Given the description of an element on the screen output the (x, y) to click on. 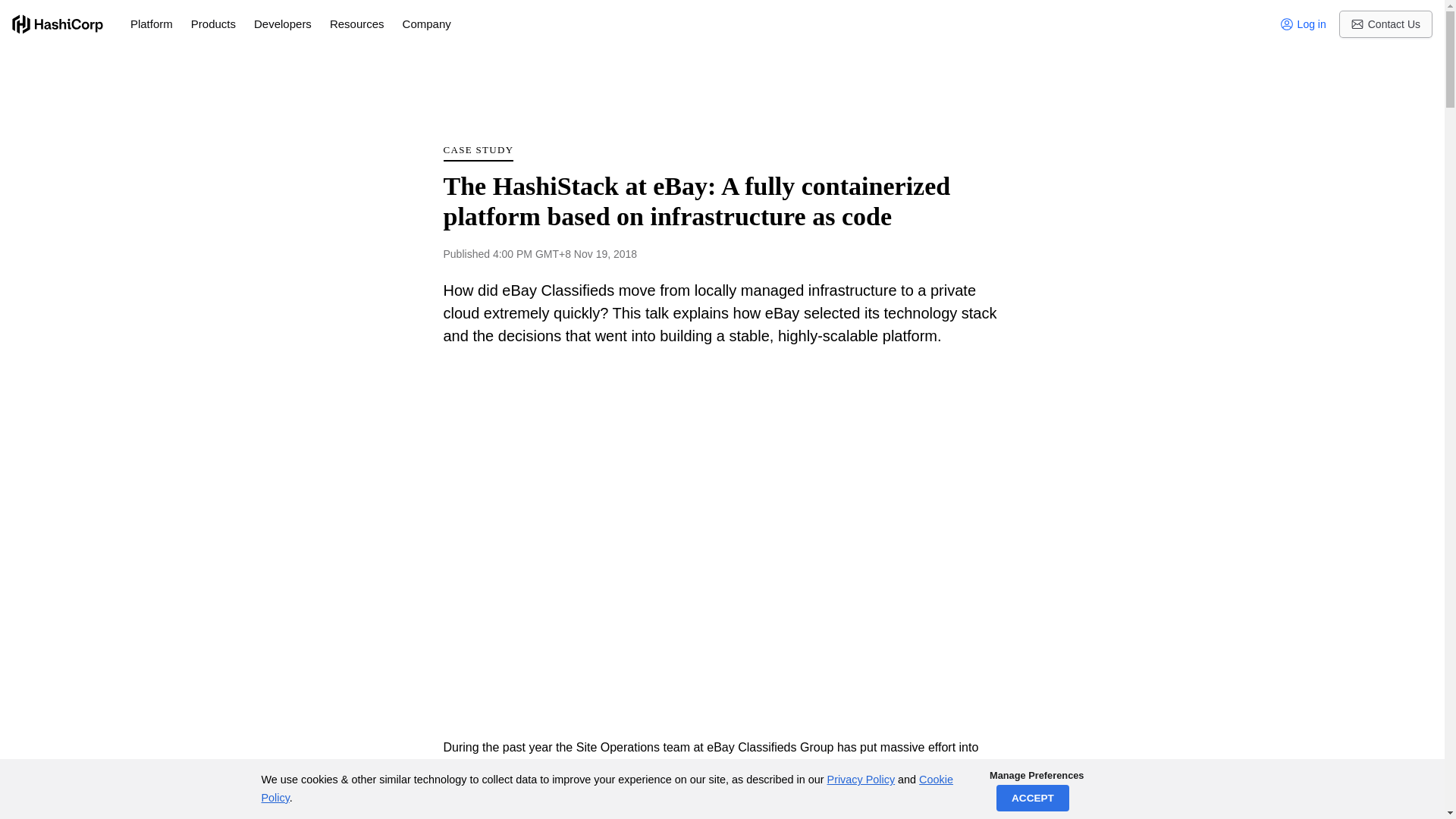
HashiCorp (57, 23)
Platform (151, 24)
Developers (282, 24)
Resources (356, 24)
Products (213, 24)
